Given the description of an element on the screen output the (x, y) to click on. 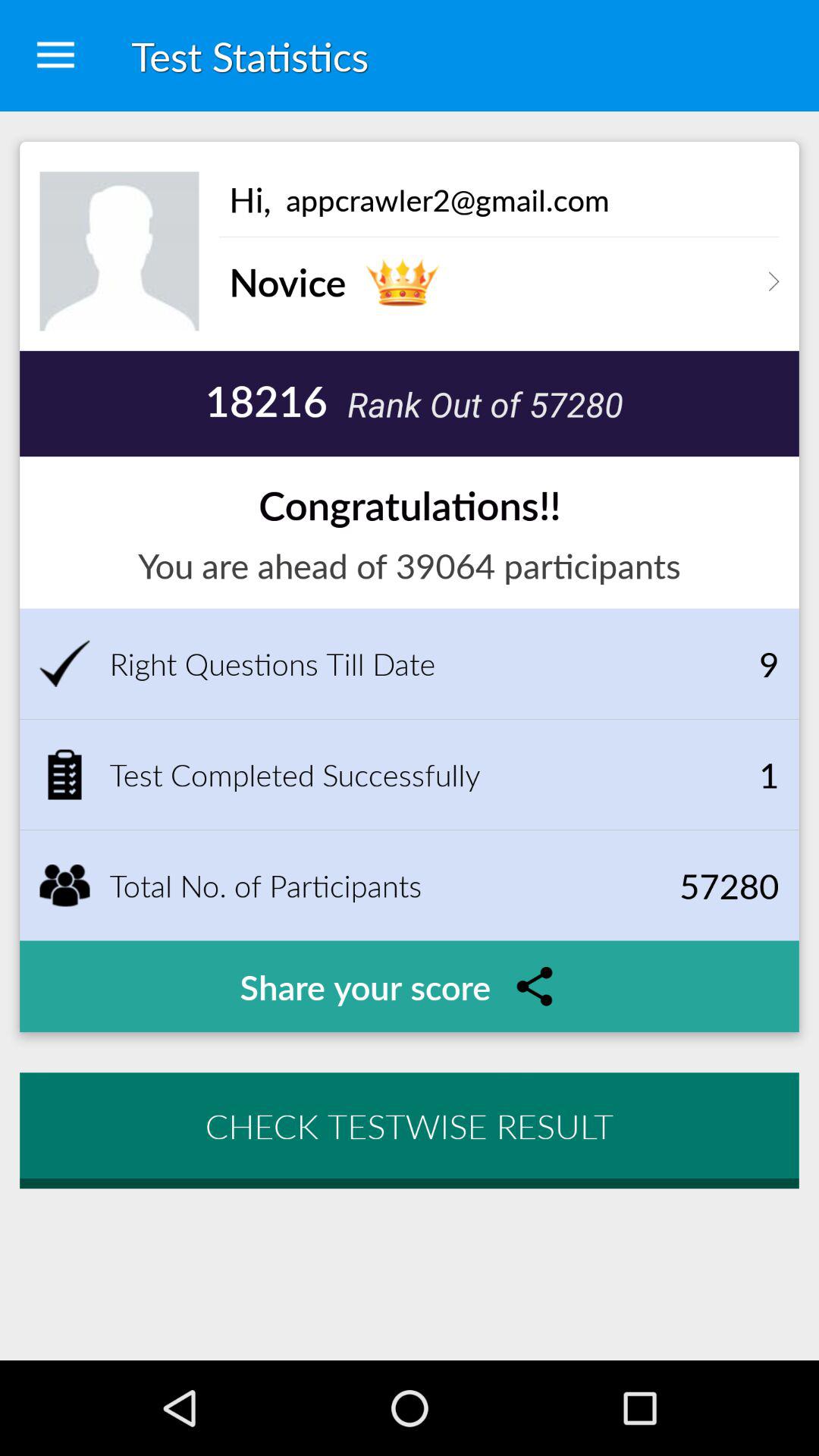
turn off check testwise result icon (409, 1125)
